Given the description of an element on the screen output the (x, y) to click on. 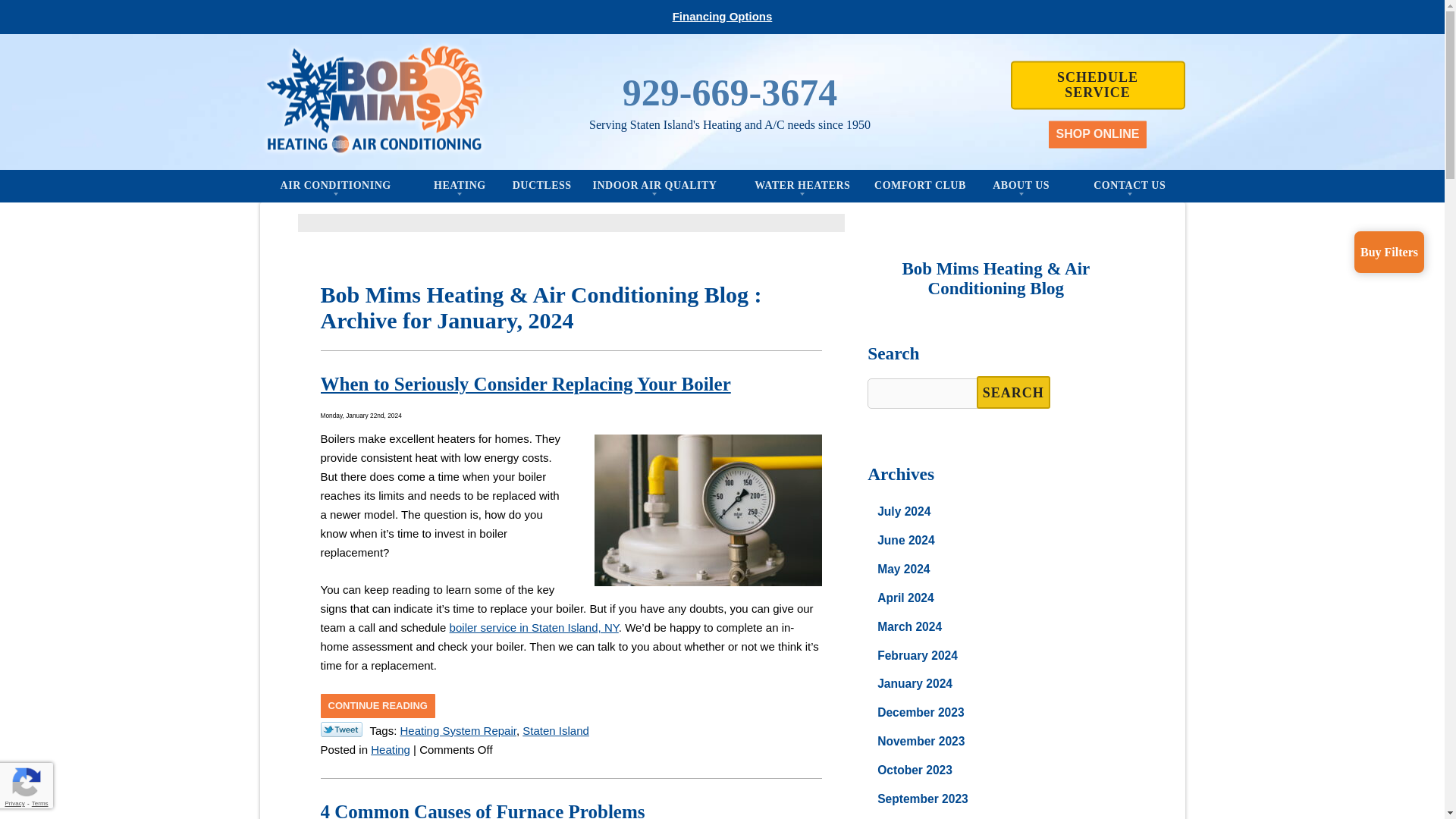
HEATING (459, 185)
WATER HEATERS (801, 185)
SCHEDULE SERVICE (1097, 84)
AIR CONDITIONING (335, 185)
Permanent Link to 4 Common Causes of Furnace Problems (482, 810)
COMFORT CLUB (919, 185)
DUCTLESS (541, 185)
SHOP ONLINE (1097, 134)
929-669-3674 (730, 93)
ABOUT US (1021, 185)
INDOOR AIR QUALITY (654, 185)
Financing Options (722, 15)
